Given the description of an element on the screen output the (x, y) to click on. 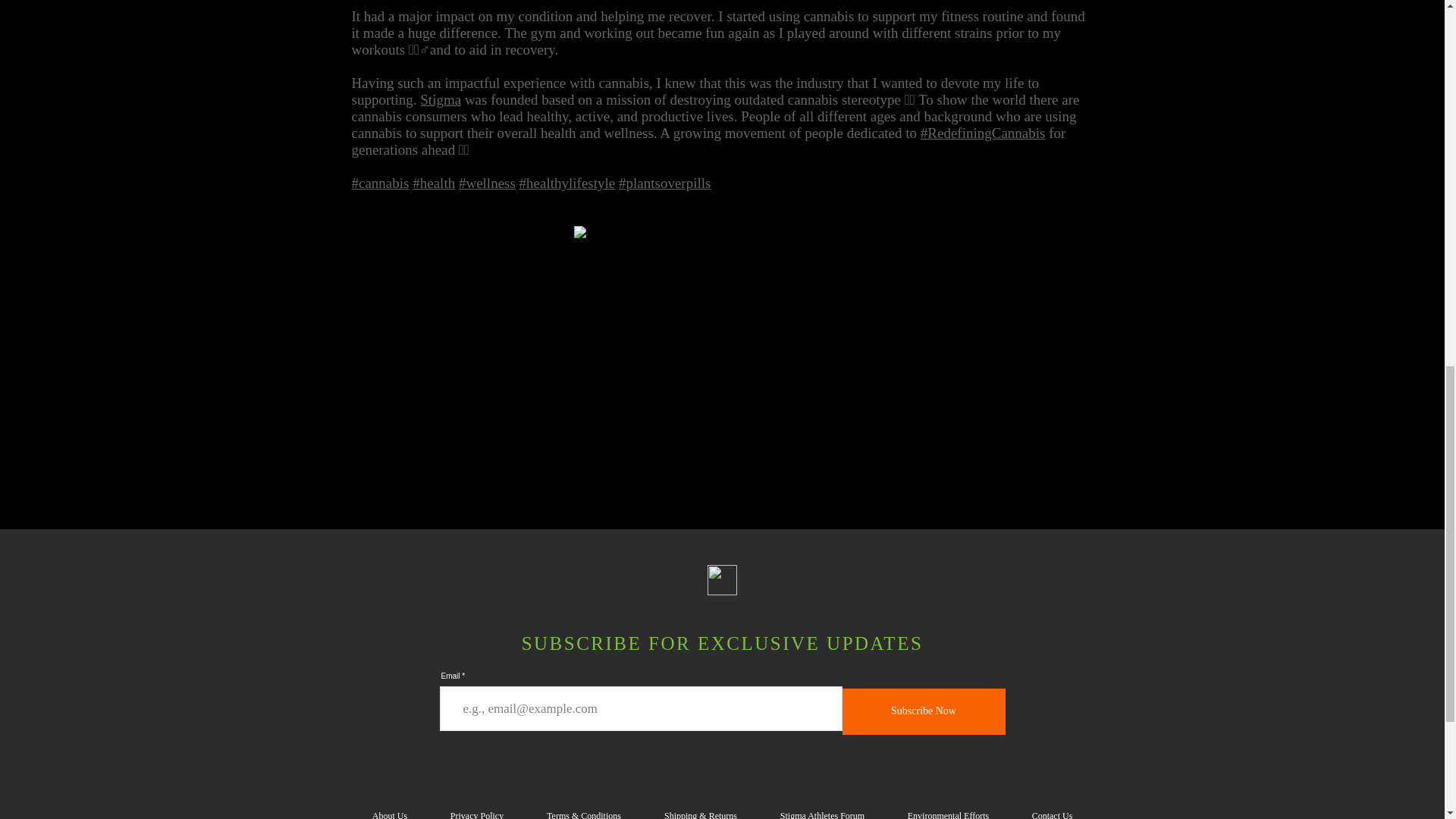
Stigma (440, 99)
About Us (389, 807)
Stigma Athletes Forum (821, 807)
Contact Us (1051, 807)
Subscribe Now (922, 711)
Leaf.png (721, 580)
Environmental Efforts (947, 807)
Privacy Policy (477, 807)
